Given the description of an element on the screen output the (x, y) to click on. 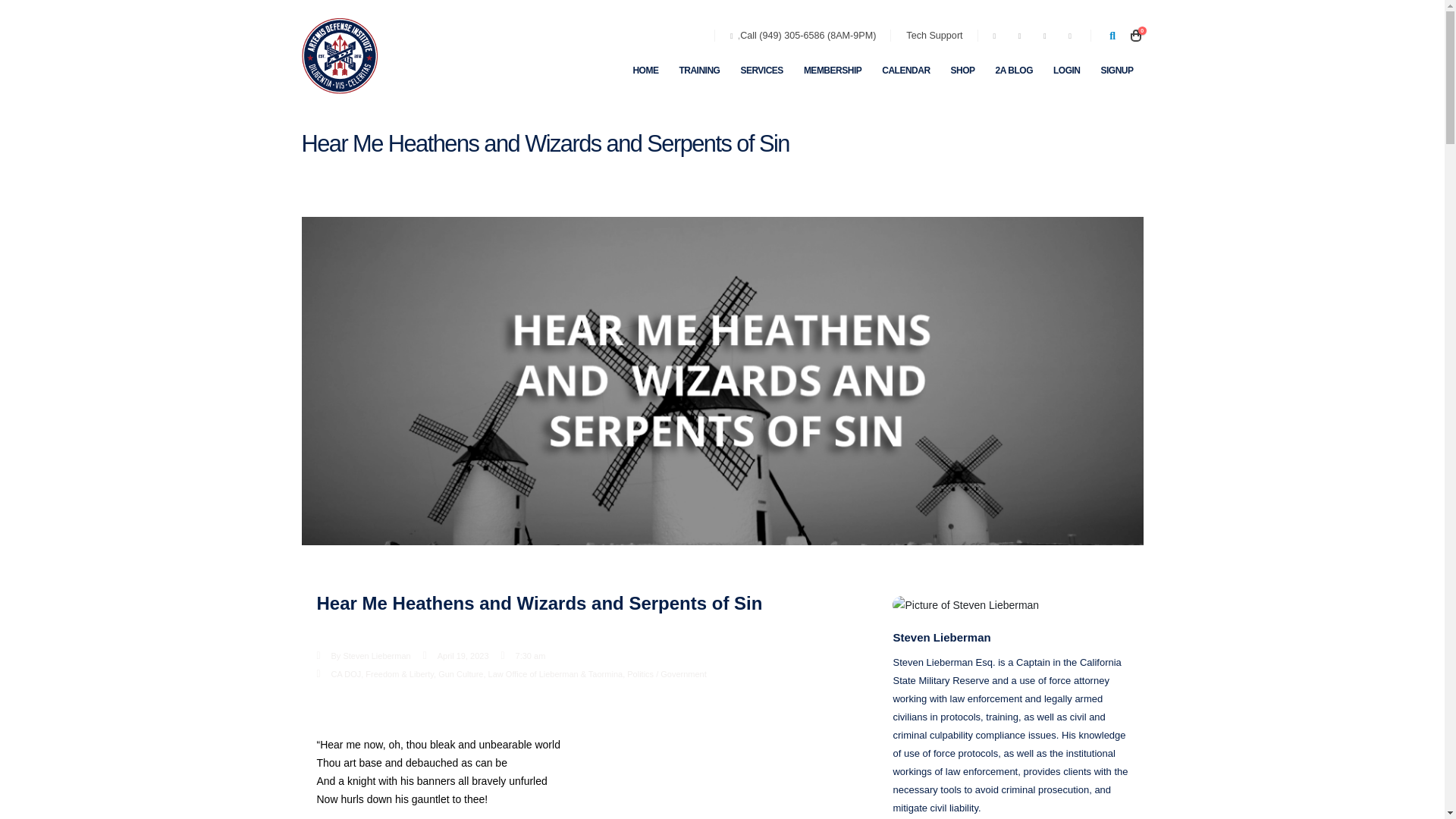
Tech Support (933, 35)
Artemis Defense Institute -  (339, 56)
TRAINING (698, 70)
HOME (645, 70)
